Given the description of an element on the screen output the (x, y) to click on. 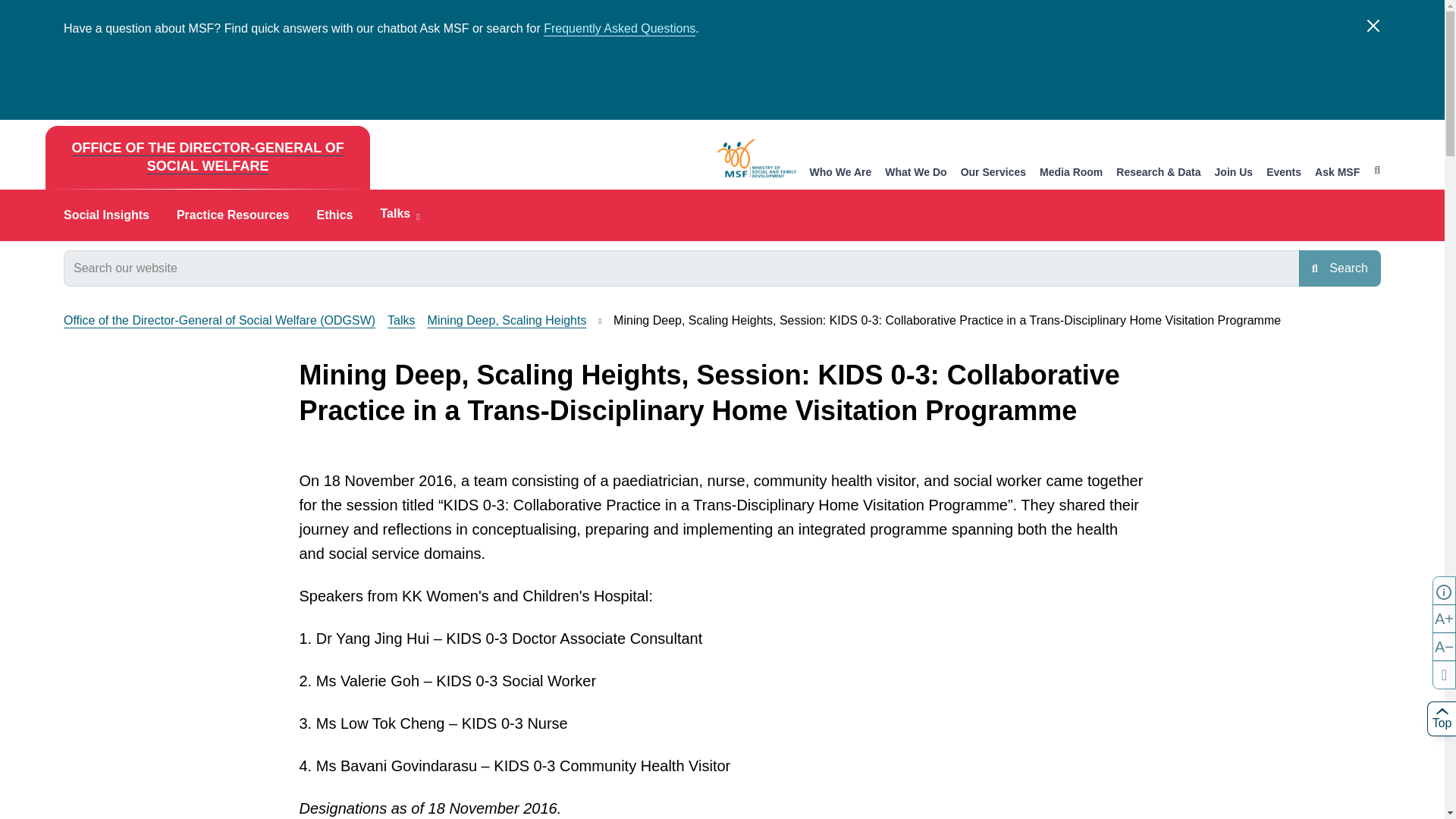
Events (1283, 172)
Ask MSF (1336, 172)
MSF logo (756, 157)
Our Services (993, 172)
Frequently Asked Questions (619, 28)
OFFICE OF THE DIRECTOR-GENERAL OF SOCIAL WELFARE (207, 157)
Media Room (1070, 172)
Who We Are (840, 172)
What We Do (915, 172)
Join Us (1233, 172)
